Given the description of an element on the screen output the (x, y) to click on. 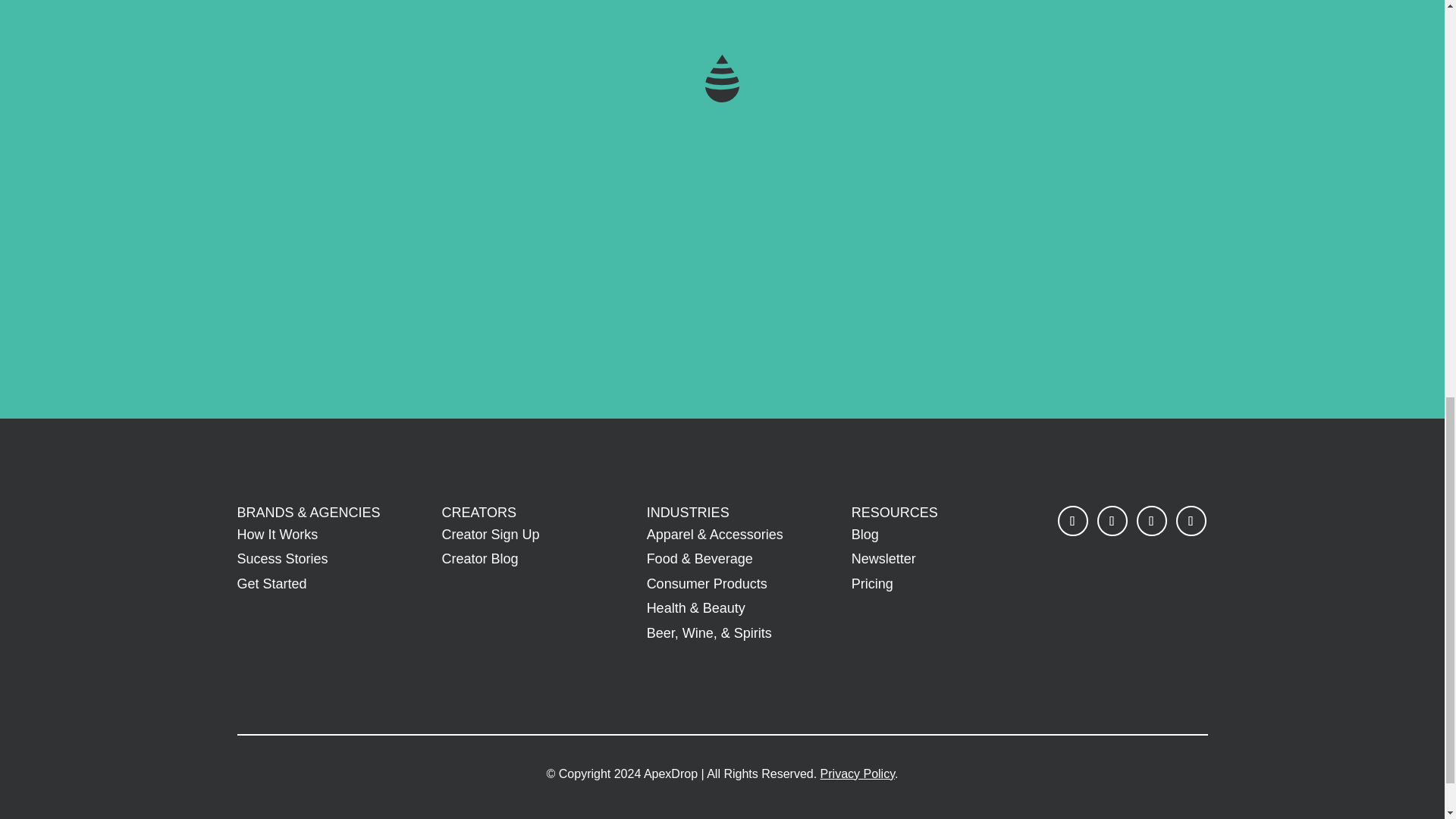
Follow on Facebook (1072, 521)
Follow on TikTok (1152, 521)
Follow on Instagram (1111, 521)
Follow on Youtube (1191, 521)
